Given the description of an element on the screen output the (x, y) to click on. 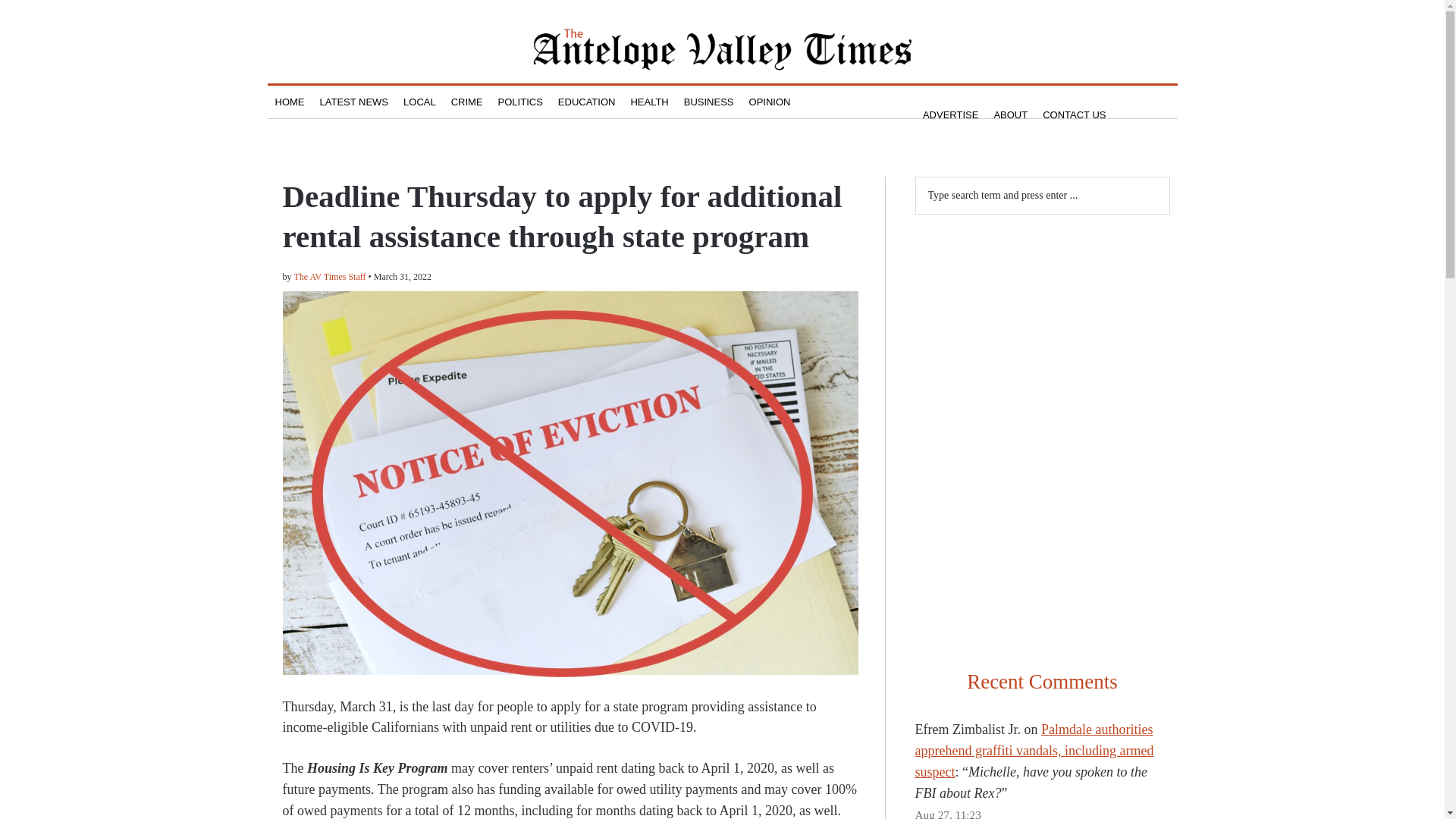
Advertisement (1041, 327)
CRIME (467, 101)
HOME (288, 101)
ABOUT (1010, 114)
BUSINESS (709, 101)
HEALTH (649, 101)
The Antelope Valley Times (721, 49)
EDUCATION (586, 101)
